Given the description of an element on the screen output the (x, y) to click on. 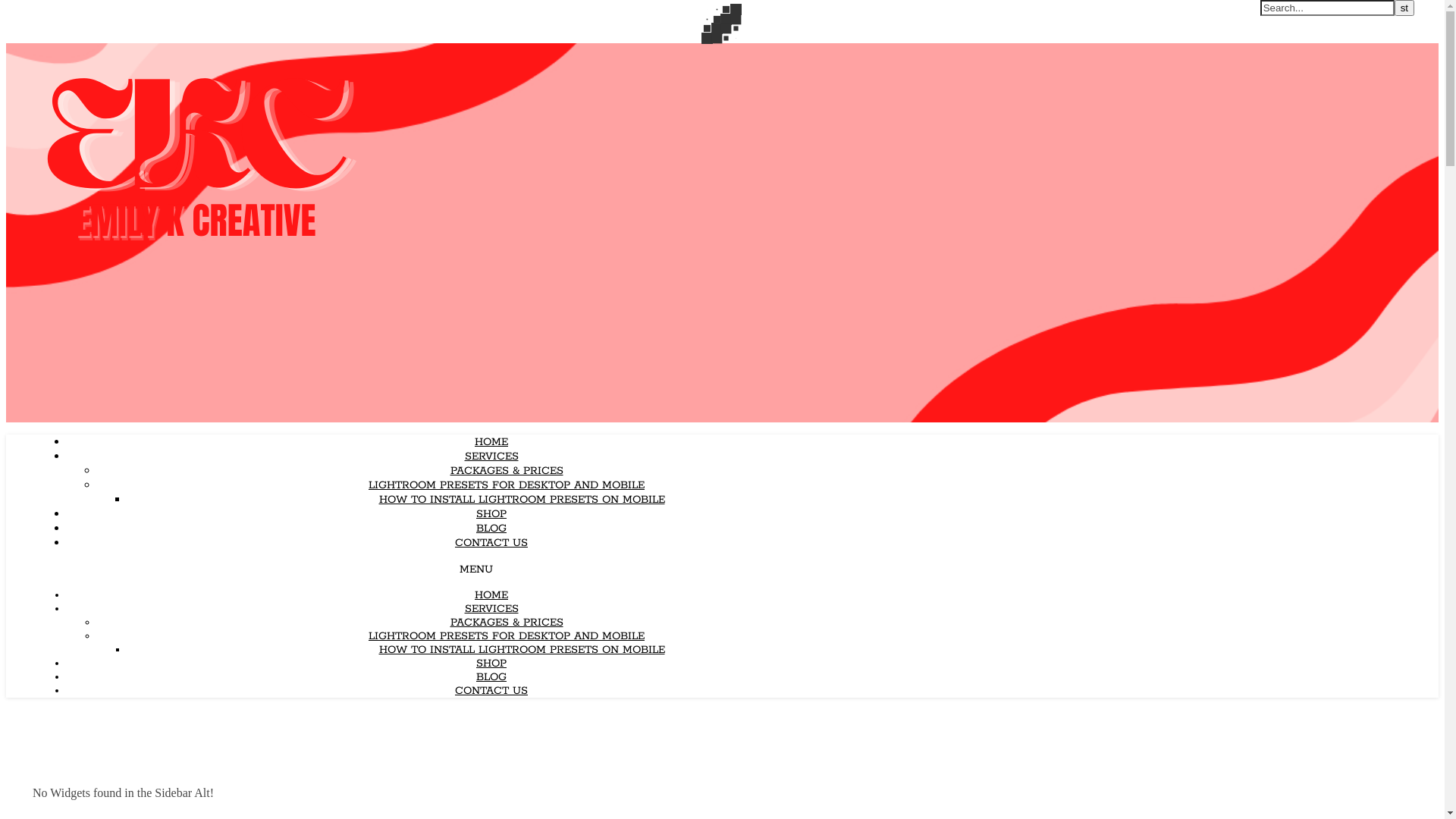
Emily K Creative | Content Creator Element type: hover (195, 262)
PACKAGES & PRICES Element type: text (506, 622)
st Element type: text (1404, 7)
HOME Element type: text (491, 441)
BLOG Element type: text (491, 528)
CONTACT US Element type: text (491, 542)
HOW TO INSTALL LIGHTROOM PRESETS ON MOBILE Element type: text (522, 499)
SHOP Element type: text (491, 663)
SHOP Element type: text (491, 513)
SERVICES Element type: text (490, 456)
BLOG Element type: text (491, 677)
LIGHTROOM PRESETS FOR DESKTOP AND MOBILE Element type: text (506, 636)
CONTACT US Element type: text (491, 690)
HOW TO INSTALL LIGHTROOM PRESETS ON MOBILE Element type: text (522, 649)
SERVICES Element type: text (490, 608)
MENU Element type: text (475, 569)
PACKAGES & PRICES Element type: text (506, 470)
LIGHTROOM PRESETS FOR DESKTOP AND MOBILE Element type: text (506, 485)
HOME Element type: text (491, 595)
